Given the description of an element on the screen output the (x, y) to click on. 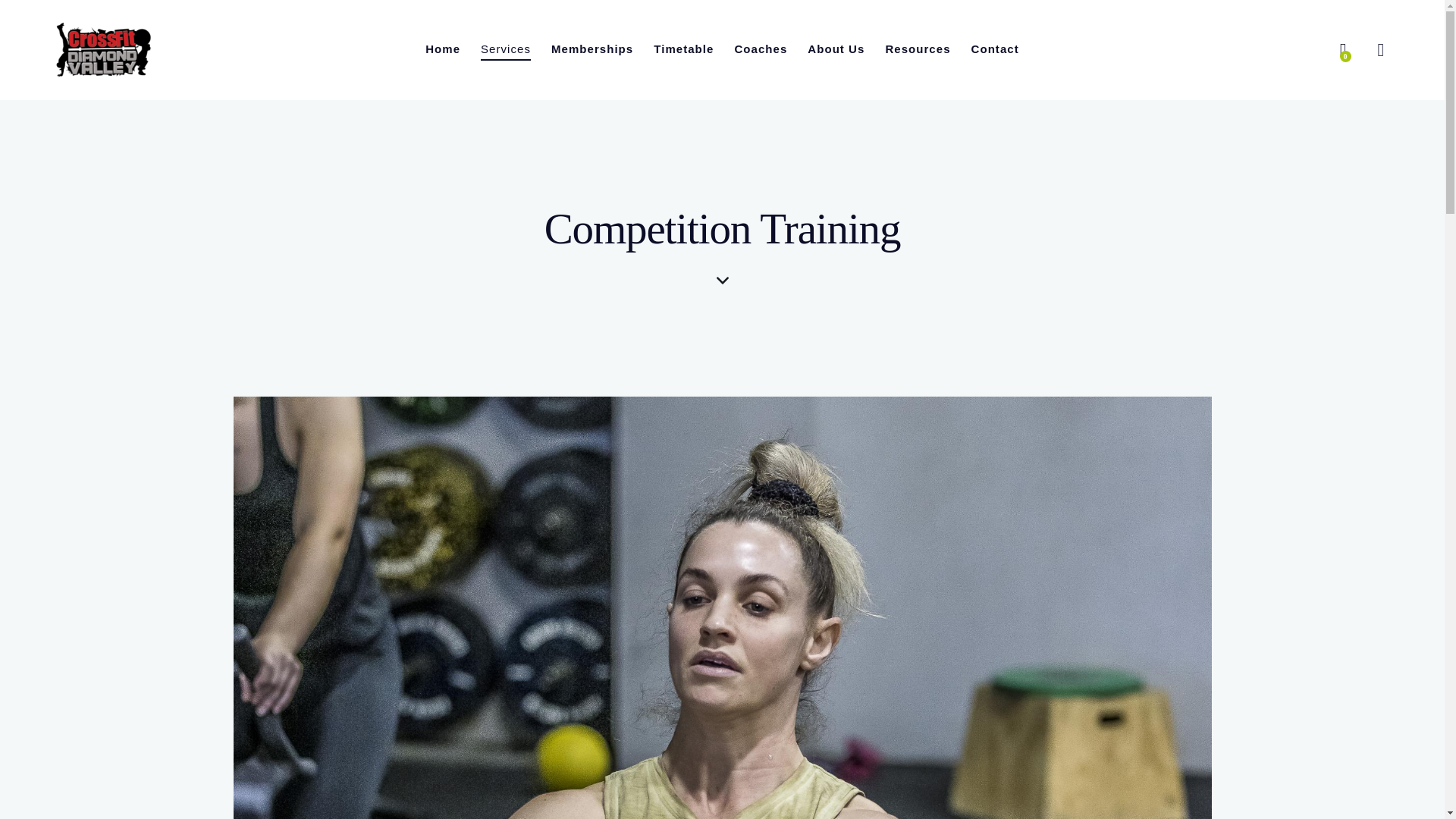
Contact (994, 49)
Coaches (760, 49)
Timetable (683, 49)
Home (442, 49)
Memberships (591, 49)
Resources (917, 49)
Services (505, 49)
About Us (836, 49)
